Given the description of an element on the screen output the (x, y) to click on. 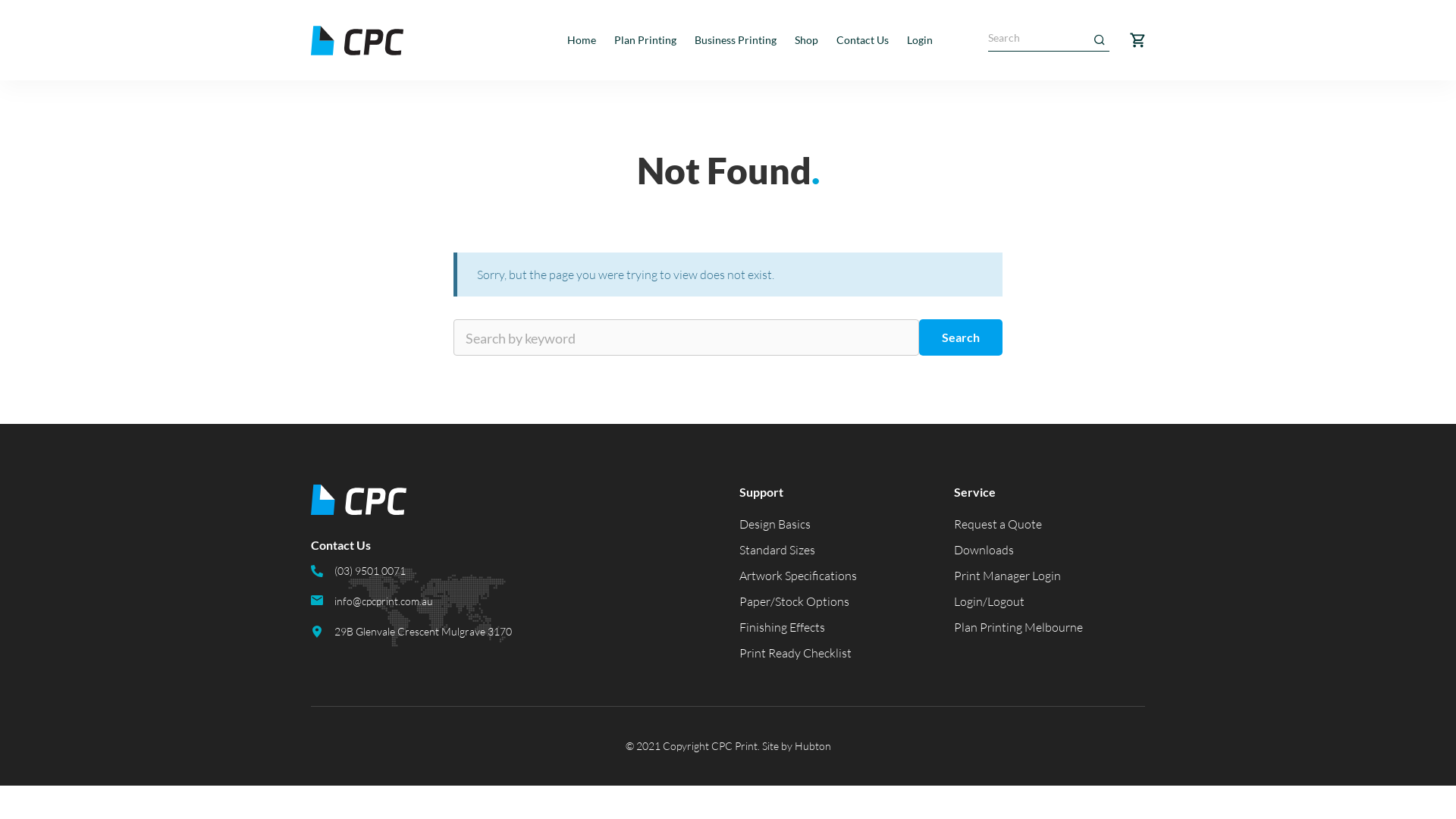
Design Basics Element type: text (774, 523)
Login/Logout Element type: text (988, 600)
Login Element type: text (919, 39)
Contact Us Element type: text (862, 39)
Search Element type: text (960, 337)
Request a Quote Element type: text (997, 523)
Plan Printing Element type: text (645, 39)
Home Element type: text (581, 39)
Print Manager Login Element type: text (1006, 575)
Artwork Specifications Element type: text (797, 575)
Downloads Element type: text (983, 549)
Plan Printing Melbourne Element type: text (1017, 626)
Shop Element type: text (806, 39)
Business Printing Element type: text (735, 39)
Standard Sizes Element type: text (777, 549)
Finishing Effects Element type: text (782, 626)
Paper/Stock Options Element type: text (794, 600)
Print Ready Checklist Element type: text (795, 652)
Go to Cart Element type: hover (1137, 40)
